Given the description of an element on the screen output the (x, y) to click on. 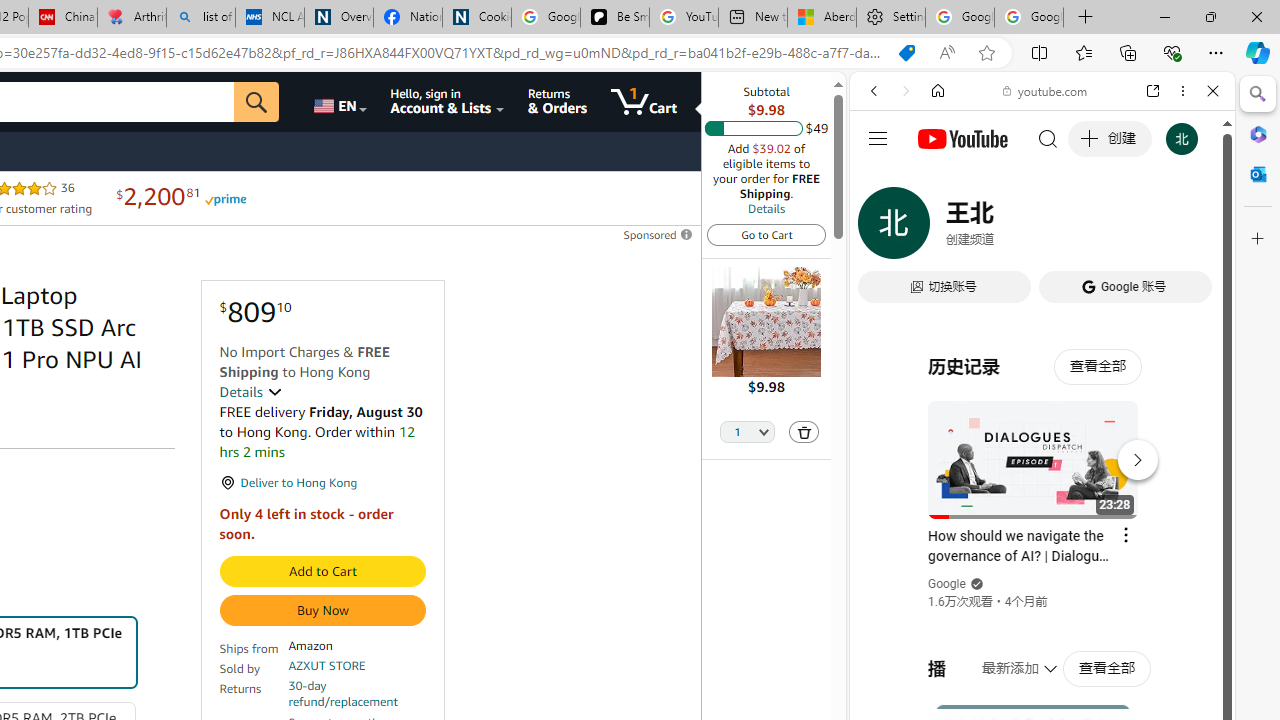
Aberdeen, Hong Kong SAR hourly forecast | Microsoft Weather (822, 17)
Global web icon (888, 288)
Search videos from youtube.com (1005, 657)
Restore (1210, 16)
Web scope (882, 180)
Go to Cart (766, 234)
#you (1042, 445)
Read aloud this page (Ctrl+Shift+U) (946, 53)
Details  (250, 391)
SEARCH TOOLS (1093, 228)
Prime (224, 198)
